Given the description of an element on the screen output the (x, y) to click on. 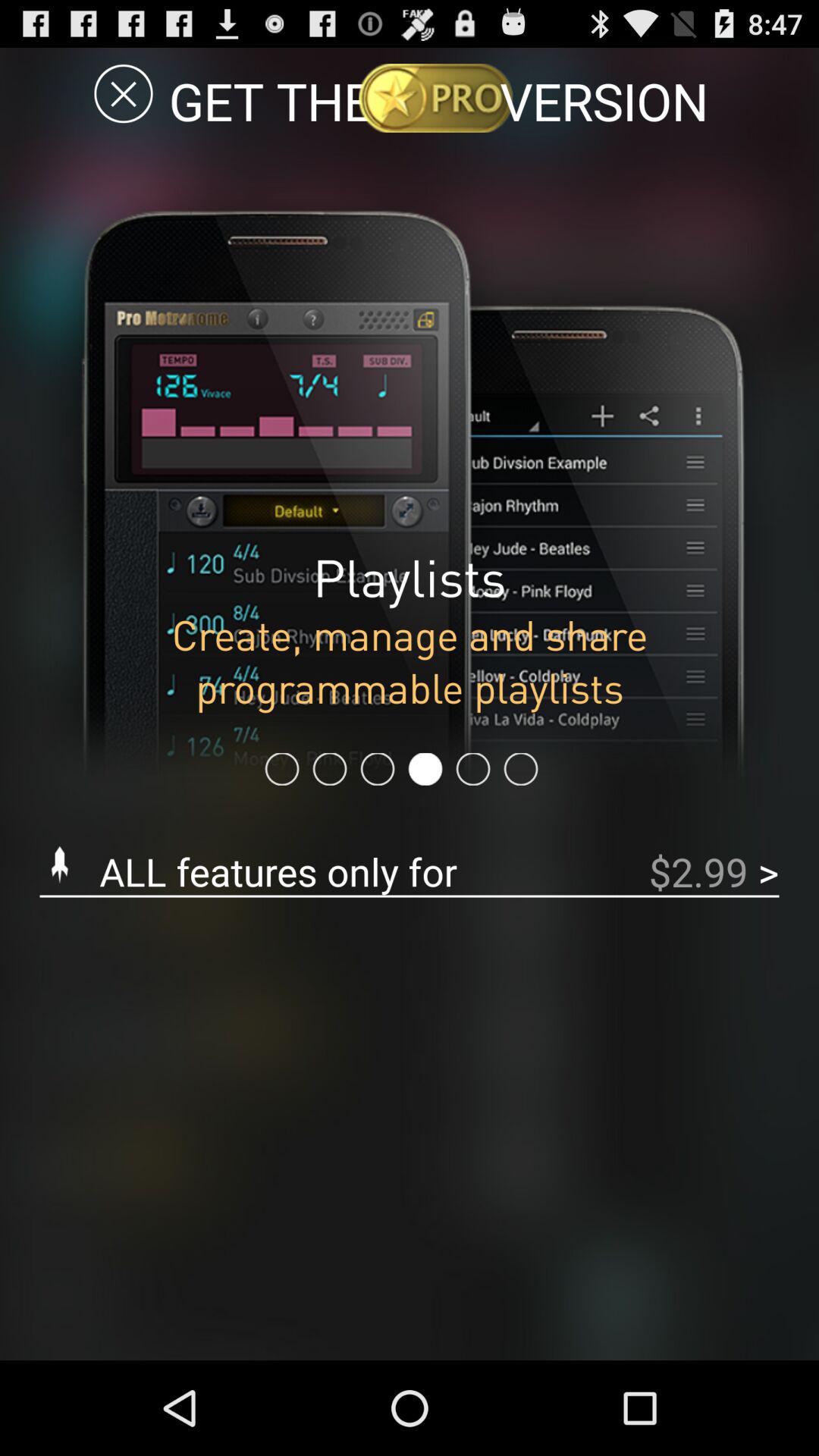
open the e (123, 93)
